Given the description of an element on the screen output the (x, y) to click on. 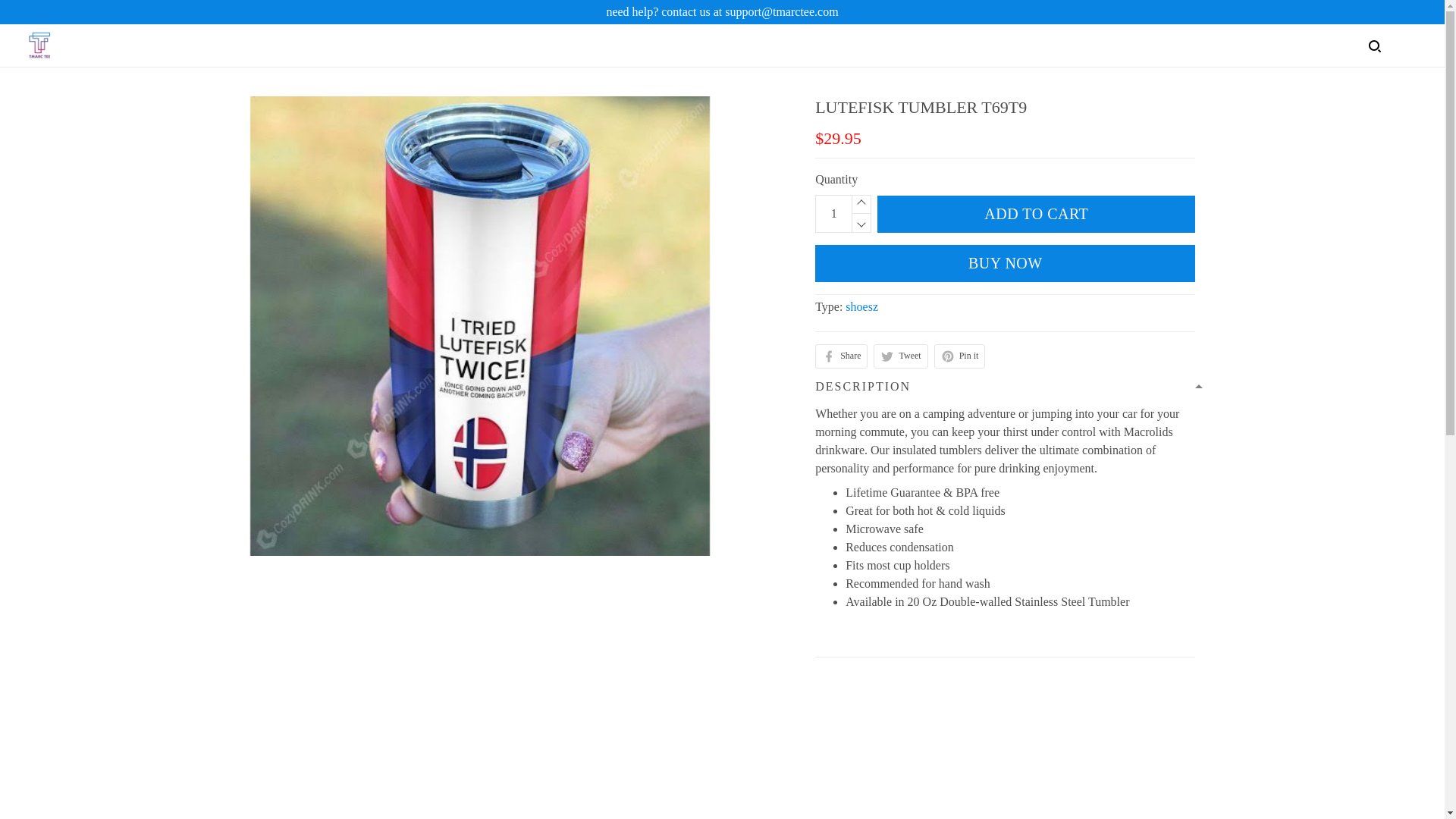
1 (833, 213)
Tweet (900, 355)
shoesz (861, 306)
Pin on Pinterest (959, 355)
Share (841, 355)
Pin it (959, 355)
Share on Facebook (841, 355)
Share on Twitter (900, 355)
BUY NOW (1005, 262)
ADD TO CART (1036, 213)
